Given the description of an element on the screen output the (x, y) to click on. 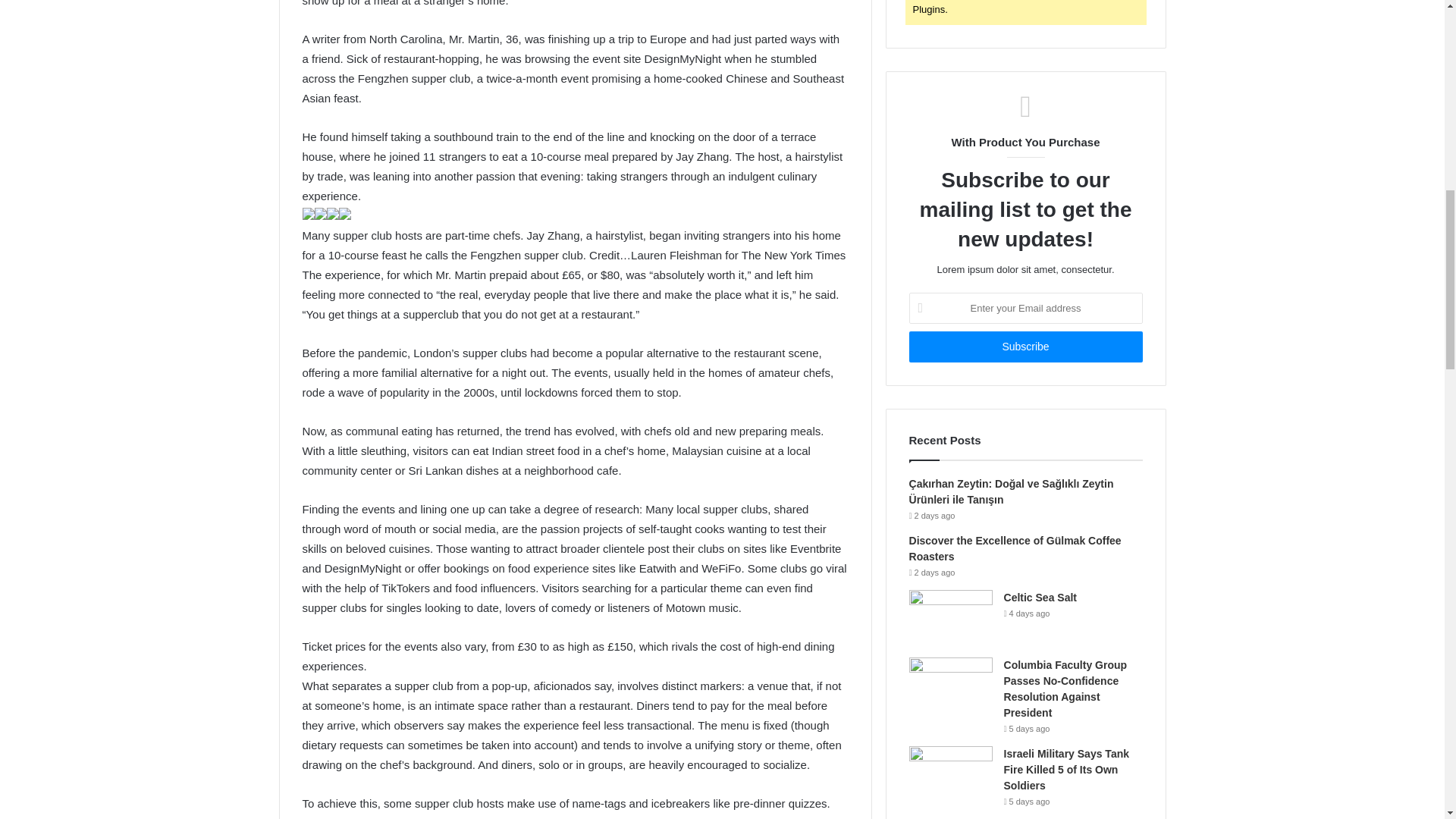
Subscribe (1025, 346)
Israeli Military Says Tank Fire Killed 5 of Its Own Soldiers (1066, 769)
Celtic Sea Salt (1040, 597)
Subscribe (1025, 346)
